Given the description of an element on the screen output the (x, y) to click on. 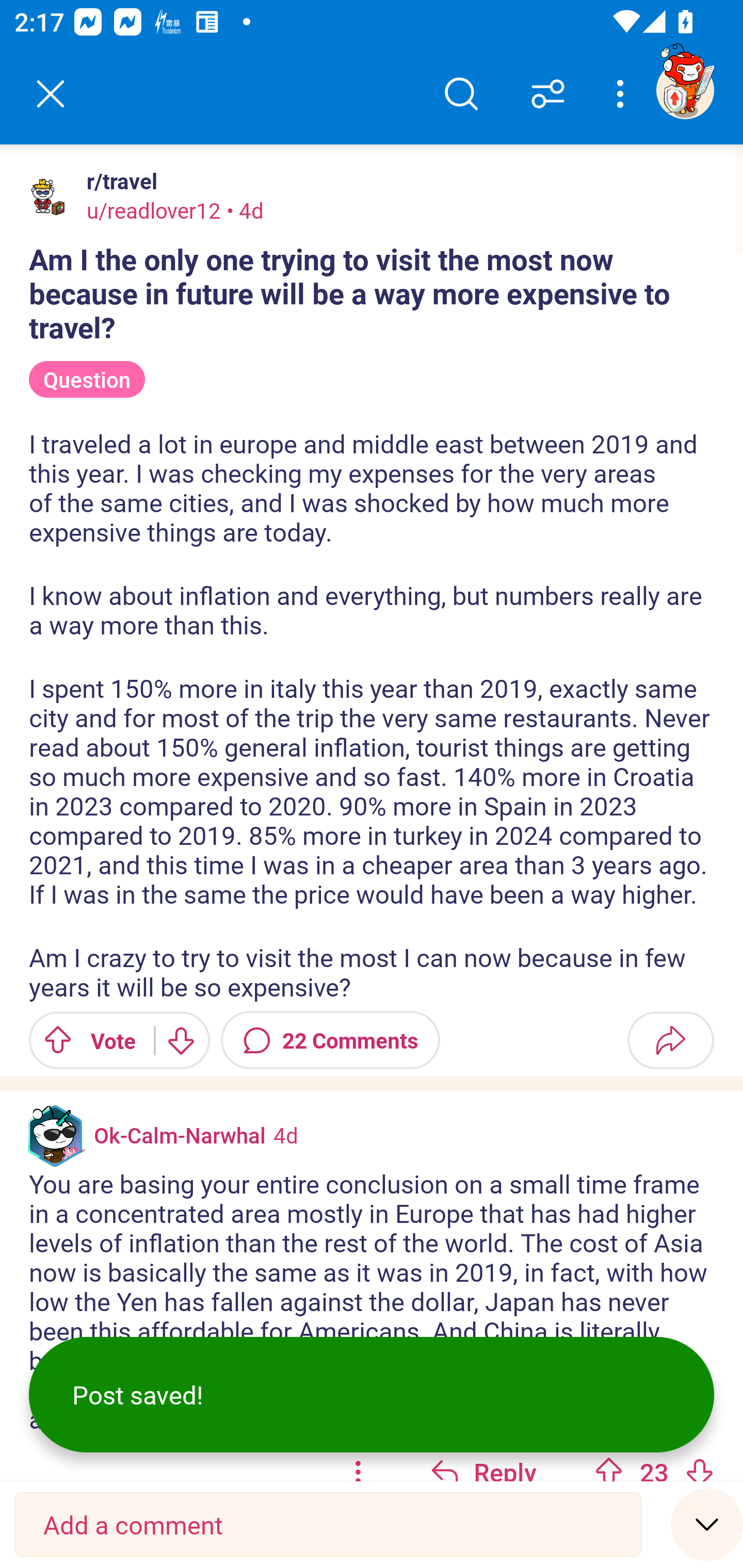
Back (50, 93)
TestAppium002 account (685, 90)
Search comments (460, 93)
Sort comments (547, 93)
More options (623, 93)
r/travel (118, 181)
Avatar (50, 196)
u/readlover12 (153, 210)
Question (86, 379)
Upvote Vote (83, 1040)
Downvote (179, 1040)
22 Comments (329, 1040)
Share (670, 1040)
4d (285, 1134)
options (358, 1458)
Reply (483, 1458)
Upvote 23 23 votes Downvote (654, 1458)
Upvote (608, 1469)
Downvote (699, 1469)
Speed read (706, 1524)
Add a comment (327, 1524)
